Given the description of an element on the screen output the (x, y) to click on. 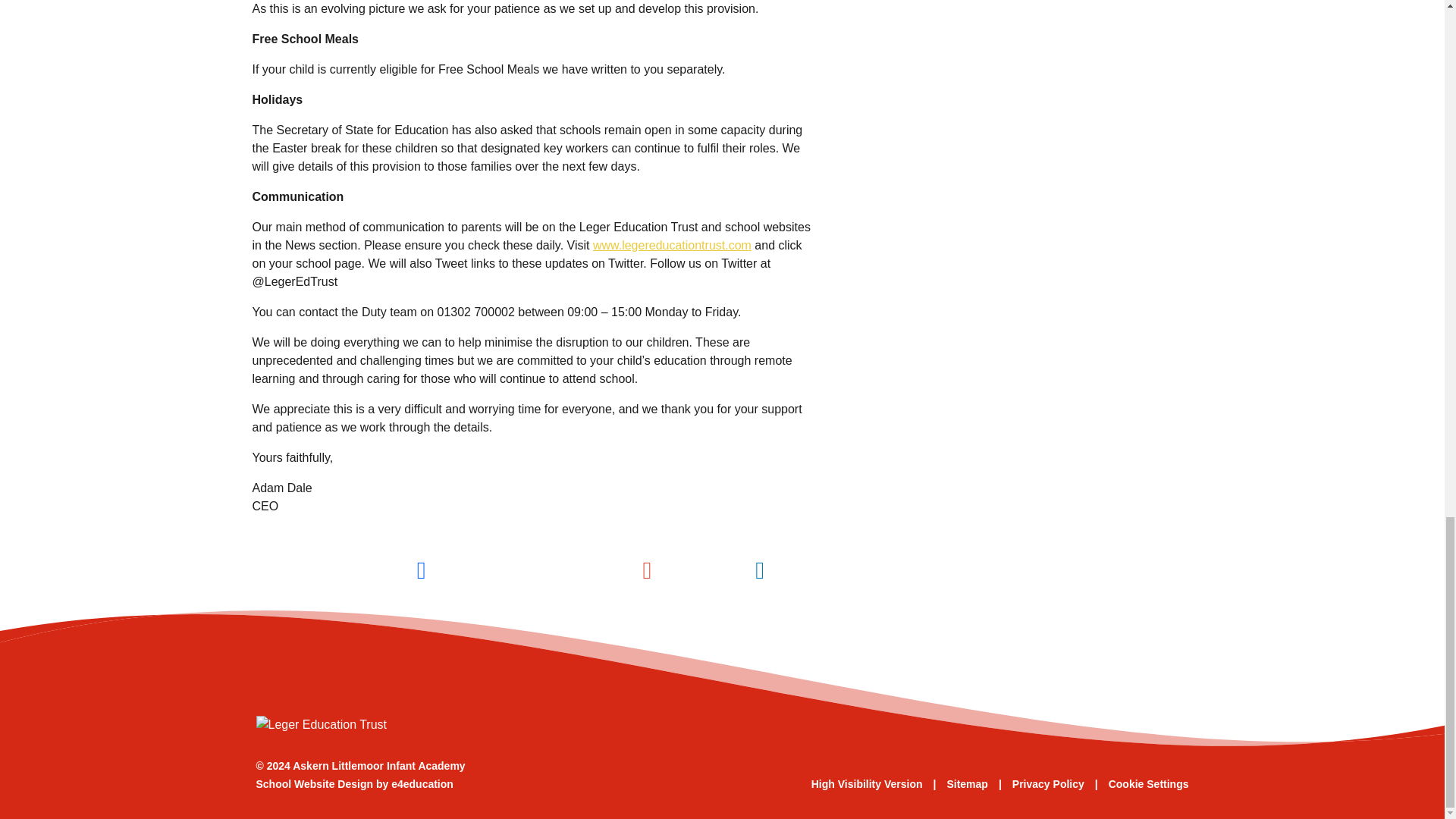
Cookie Settings (1148, 784)
